Given the description of an element on the screen output the (x, y) to click on. 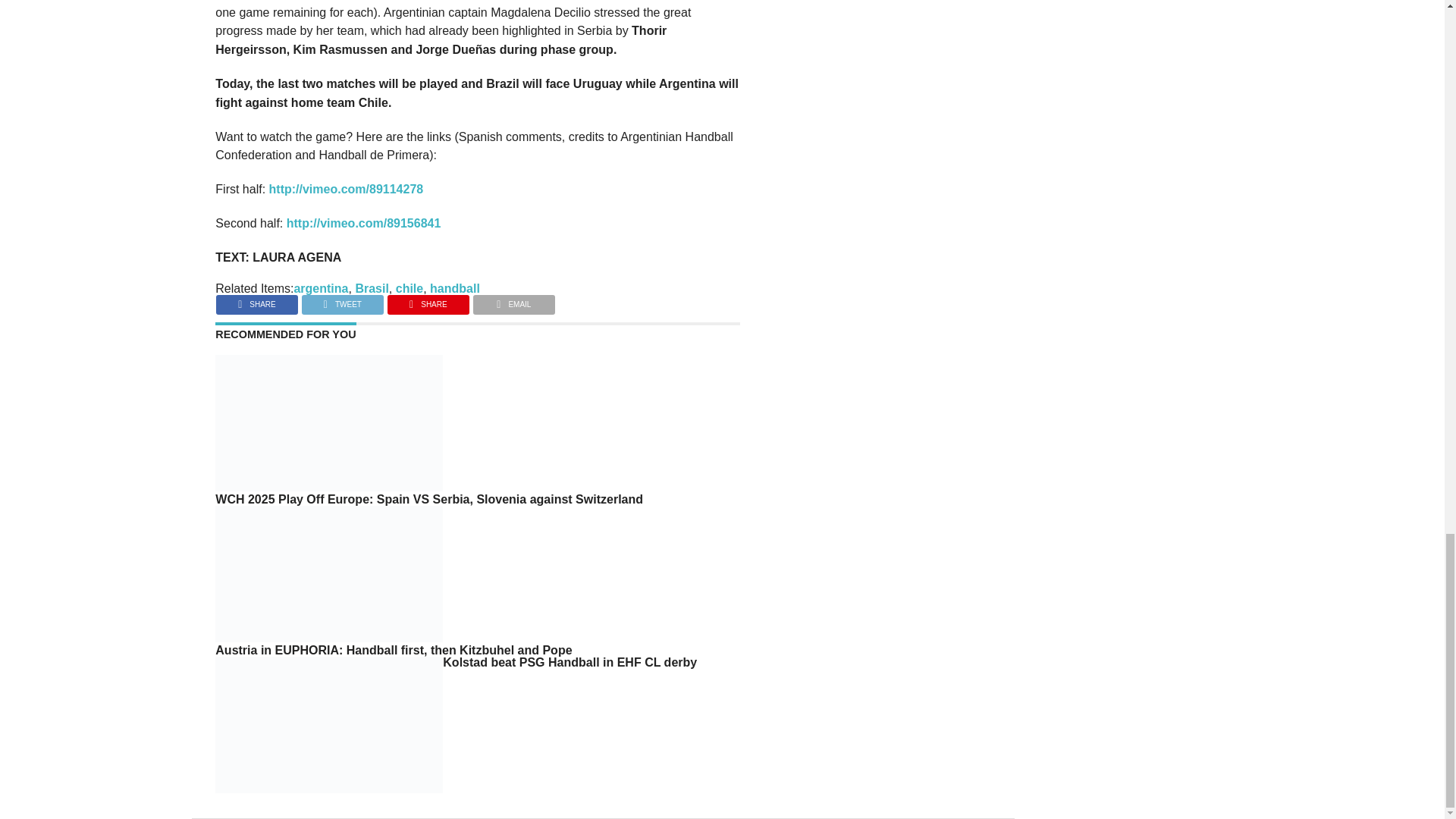
Pin This Post (427, 300)
Kolstad beat PSG Handball in EHF CL derby (328, 788)
Tweet This Post (342, 300)
Austria in EUPHORIA: Handball first, then Kitzbuhel and Pope (328, 637)
Share on Facebook (256, 300)
